Given the description of an element on the screen output the (x, y) to click on. 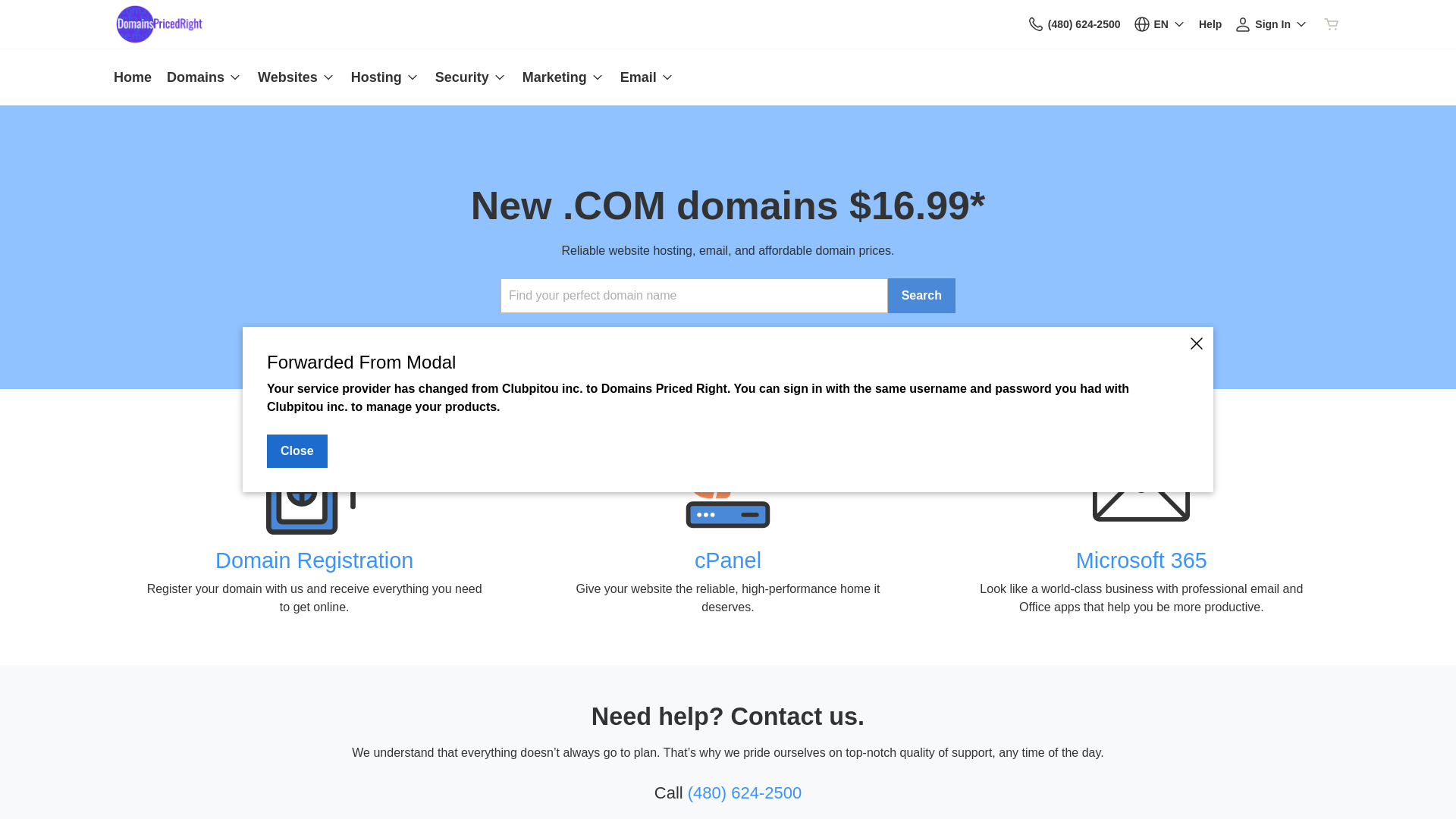
Microsoft 365 Element type: text (1141, 560)
Domain Registration Element type: text (314, 560)
Hosting Element type: text (385, 77)
Marketing Element type: text (563, 77)
Security Element type: text (470, 77)
Search Element type: text (921, 295)
Help Element type: text (1209, 24)
Domains Element type: text (204, 77)
Websites Element type: text (296, 77)
Email Element type: text (643, 77)
Contact Us Element type: hover (1035, 24)
EN Element type: text (1159, 24)
(480) 624-2500 Element type: text (744, 792)
Close Element type: text (296, 450)
Home Element type: text (136, 77)
cPanel Element type: text (727, 560)
(480) 624-2500 Element type: text (1073, 24)
Sign In Element type: text (1270, 24)
